Given the description of an element on the screen output the (x, y) to click on. 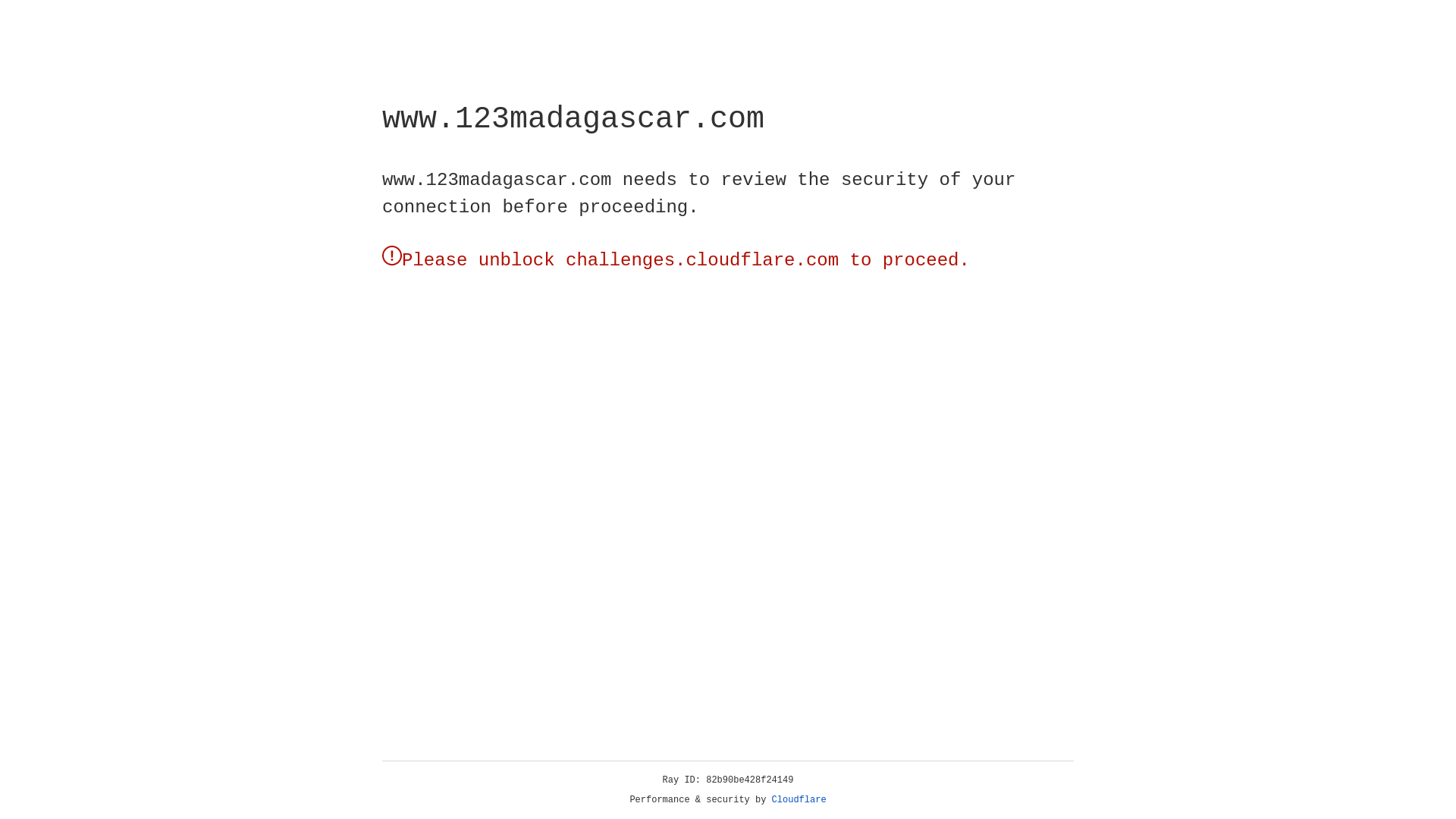
Cloudflare Element type: text (798, 799)
